Given the description of an element on the screen output the (x, y) to click on. 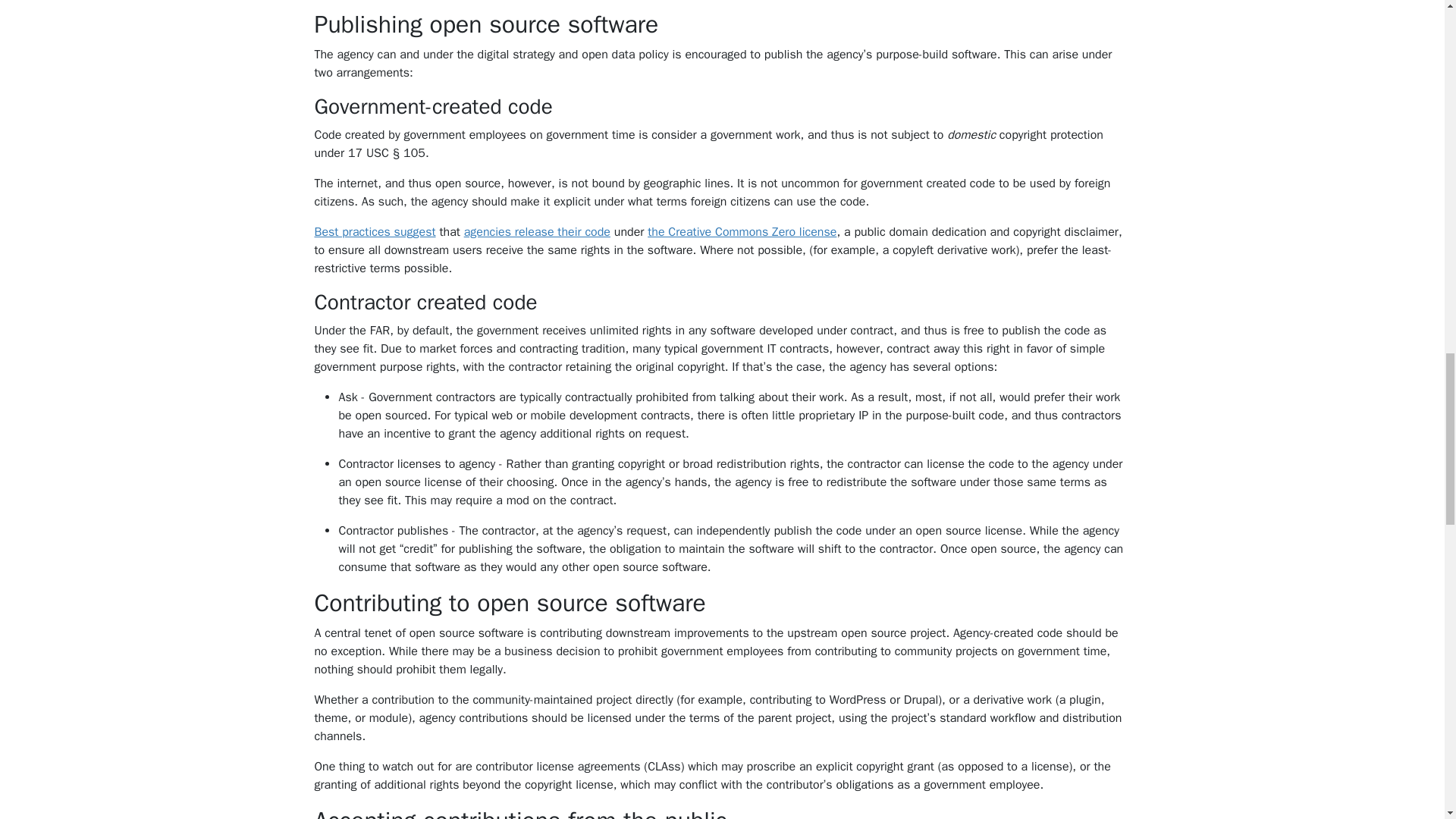
Best practices suggest (374, 231)
the Creative Commons Zero license (741, 231)
agencies release their code (537, 231)
